Given the description of an element on the screen output the (x, y) to click on. 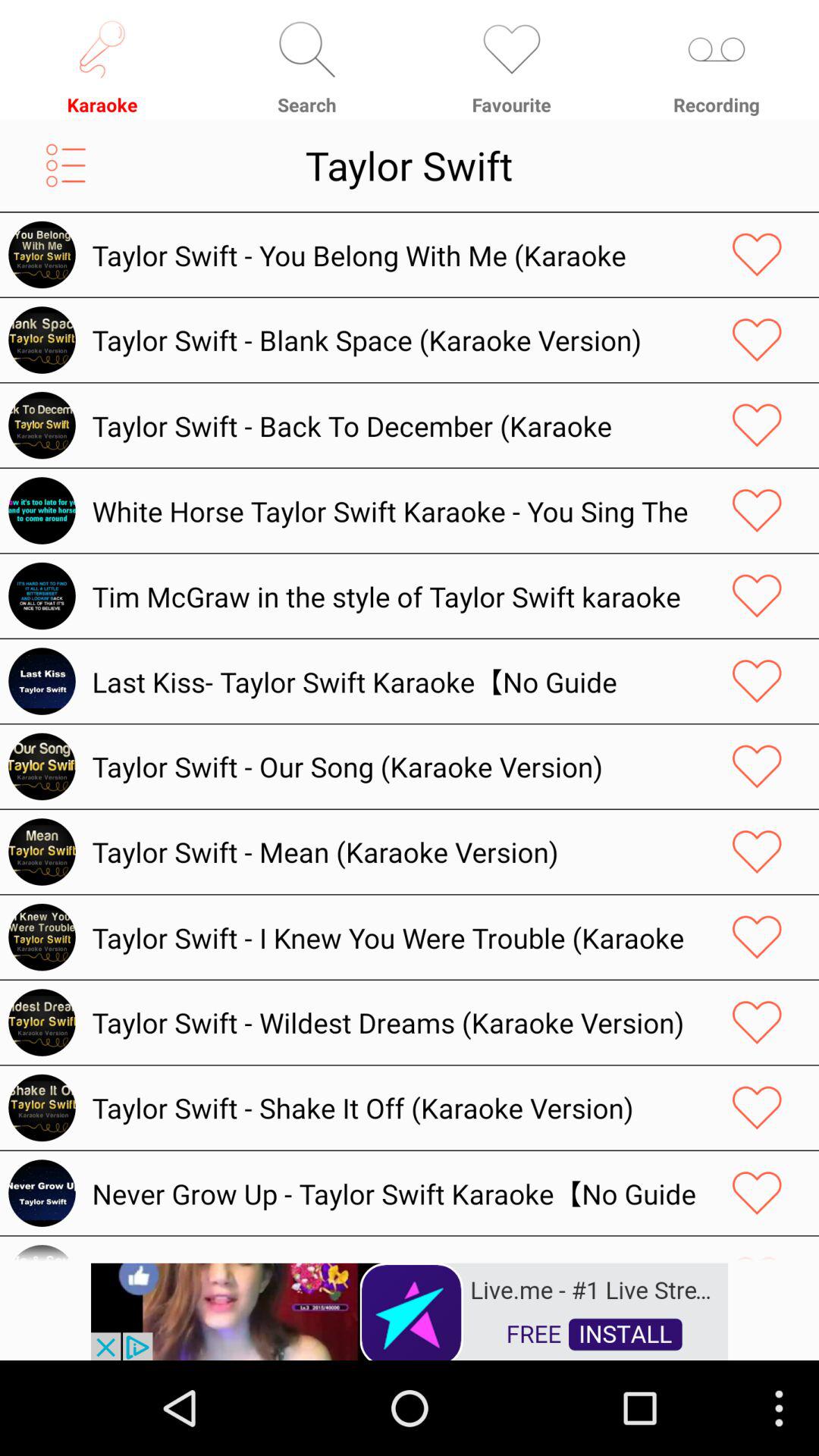
like page (756, 681)
